Given the description of an element on the screen output the (x, y) to click on. 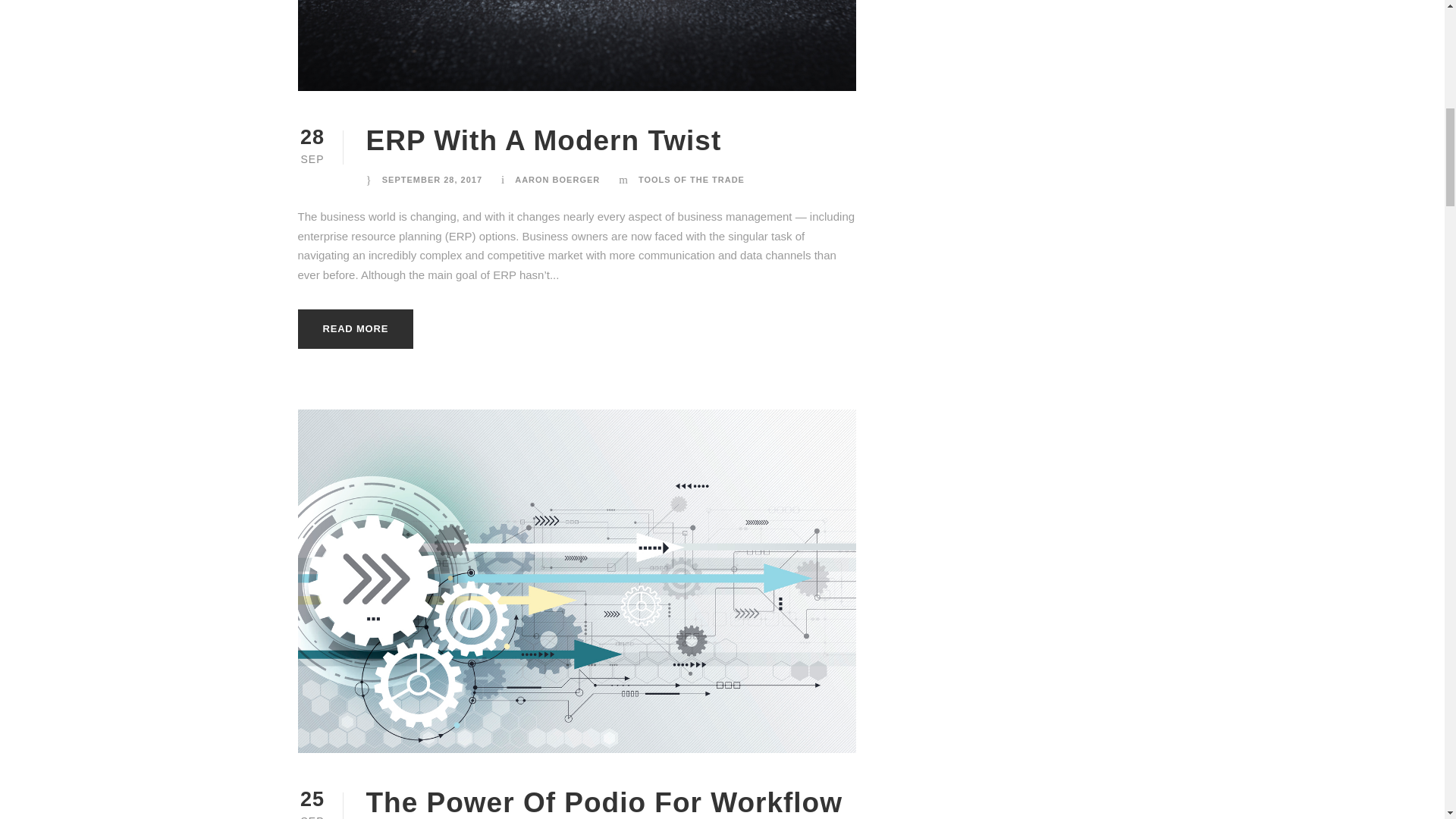
Posts by Aaron Boerger (557, 179)
